Given the description of an element on the screen output the (x, y) to click on. 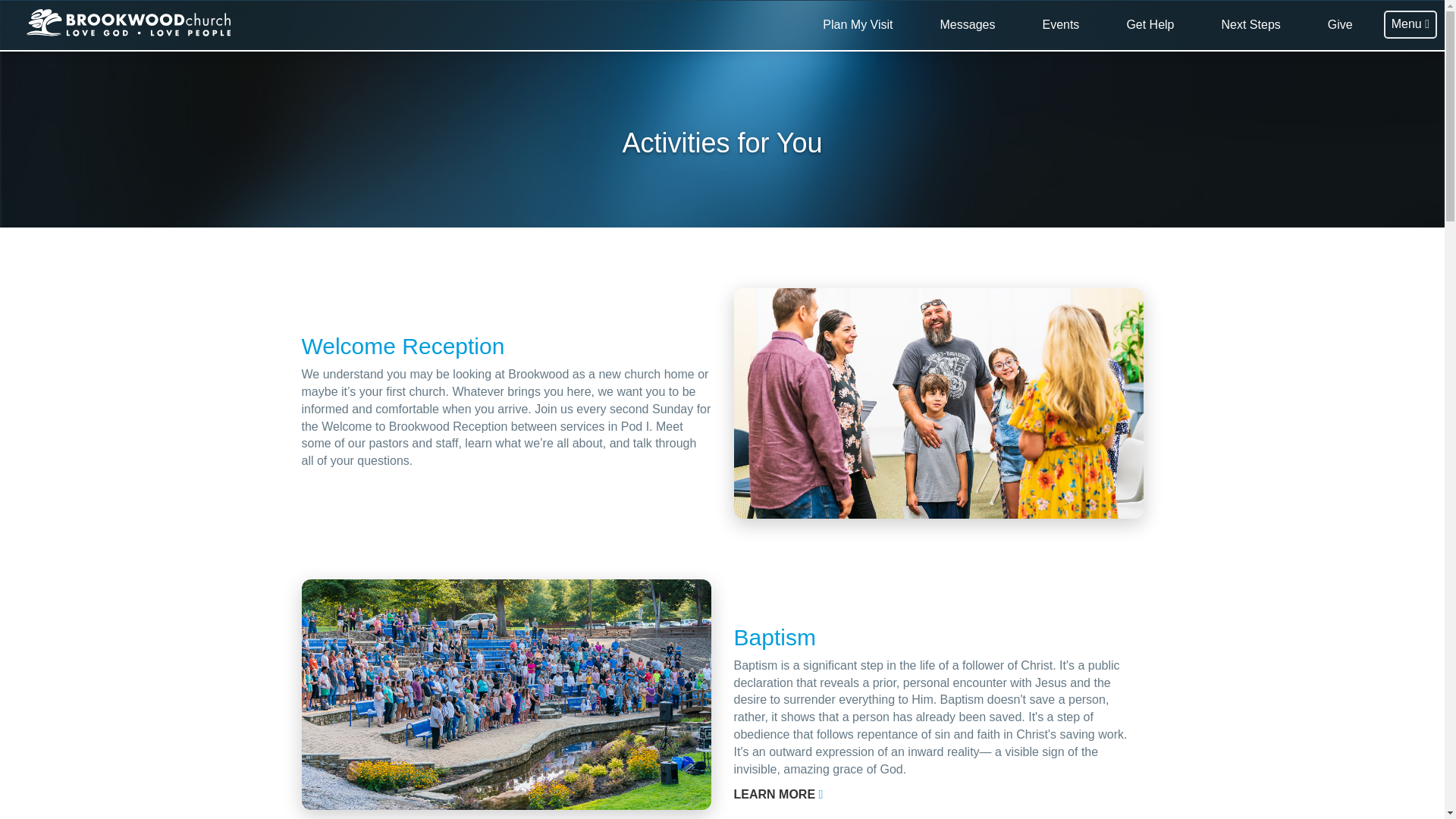
Next Steps (1251, 24)
Get Help (1149, 24)
Give (1339, 24)
Plan My Visit (857, 24)
Messages (968, 24)
Events (1059, 24)
